Given the description of an element on the screen output the (x, y) to click on. 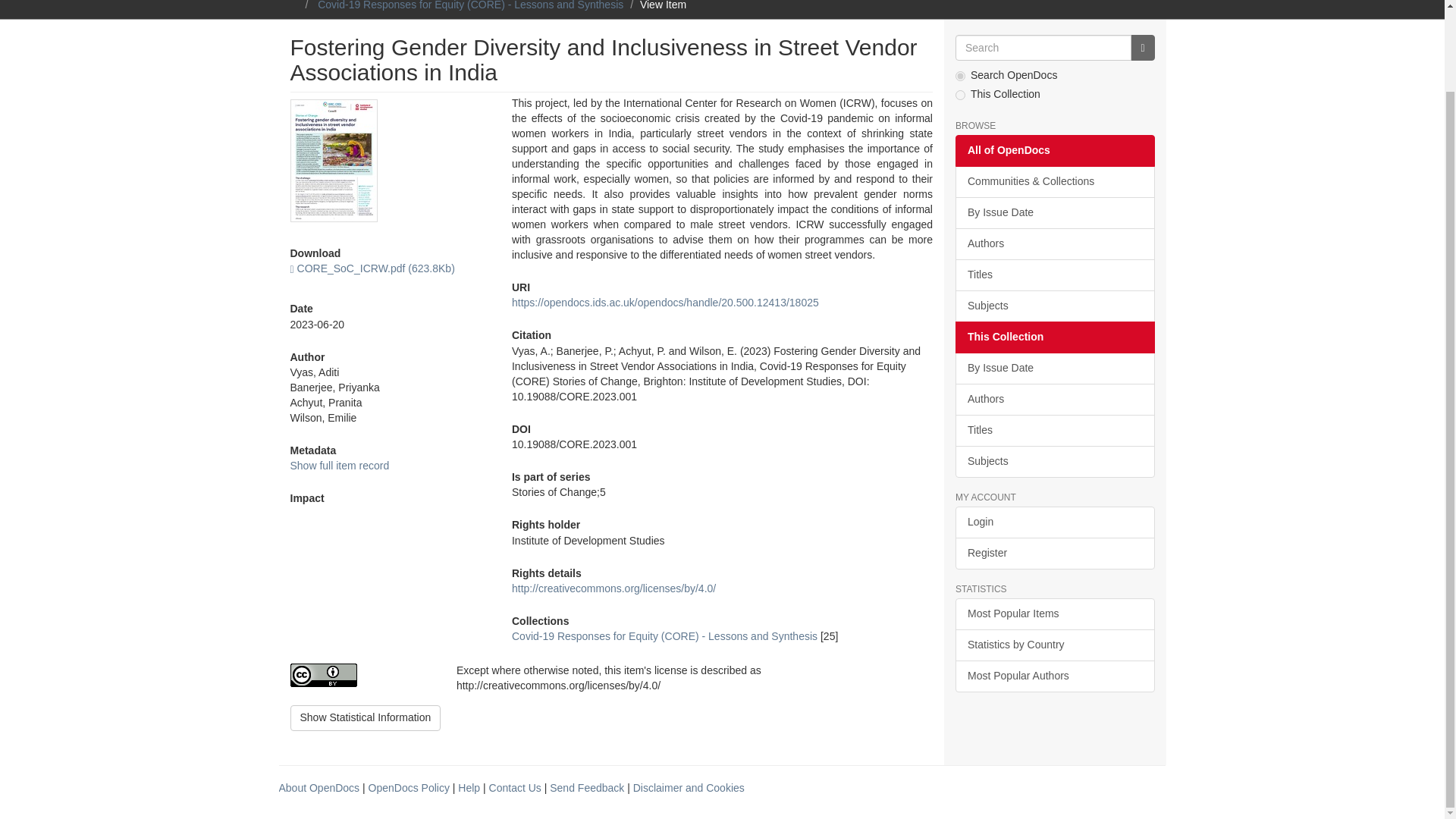
By Issue Date (1054, 368)
This Collection (1054, 336)
By Issue Date (1054, 213)
Show Statistical Information (365, 718)
Authors (1054, 399)
Show full item record (338, 465)
Titles (1054, 275)
Go (1142, 47)
Titles (1054, 430)
Authors (1054, 244)
All of OpenDocs (1054, 151)
Subjects (1054, 306)
